Given the description of an element on the screen output the (x, y) to click on. 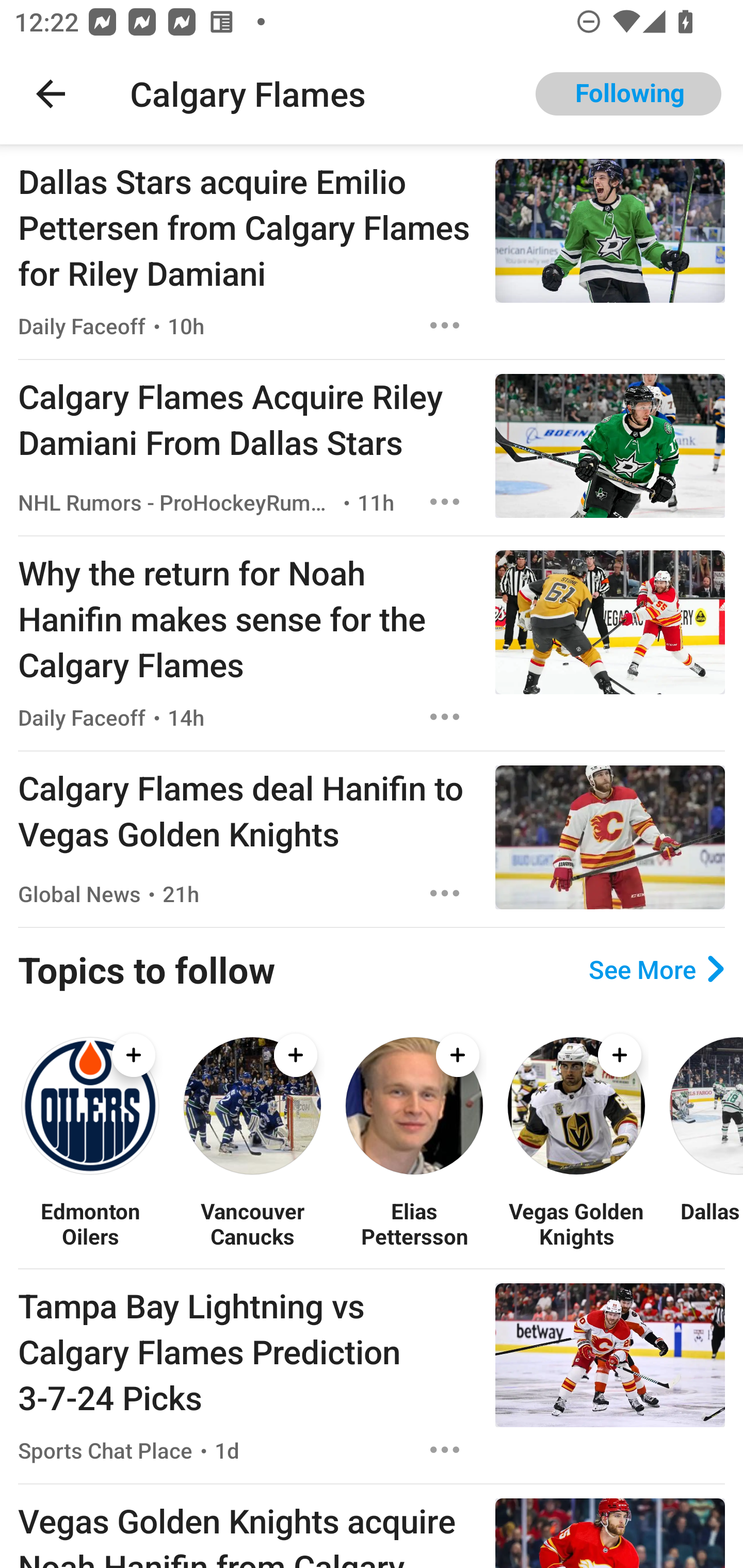
Navigate up (50, 93)
Following (628, 94)
Options (444, 325)
Options (444, 501)
Options (444, 716)
Options (444, 893)
See More (656, 968)
Edmonton Oilers (89, 1223)
Vancouver Canucks (251, 1223)
Elias Pettersson (413, 1223)
Vegas Golden Knights (575, 1223)
Options (444, 1449)
